Given the description of an element on the screen output the (x, y) to click on. 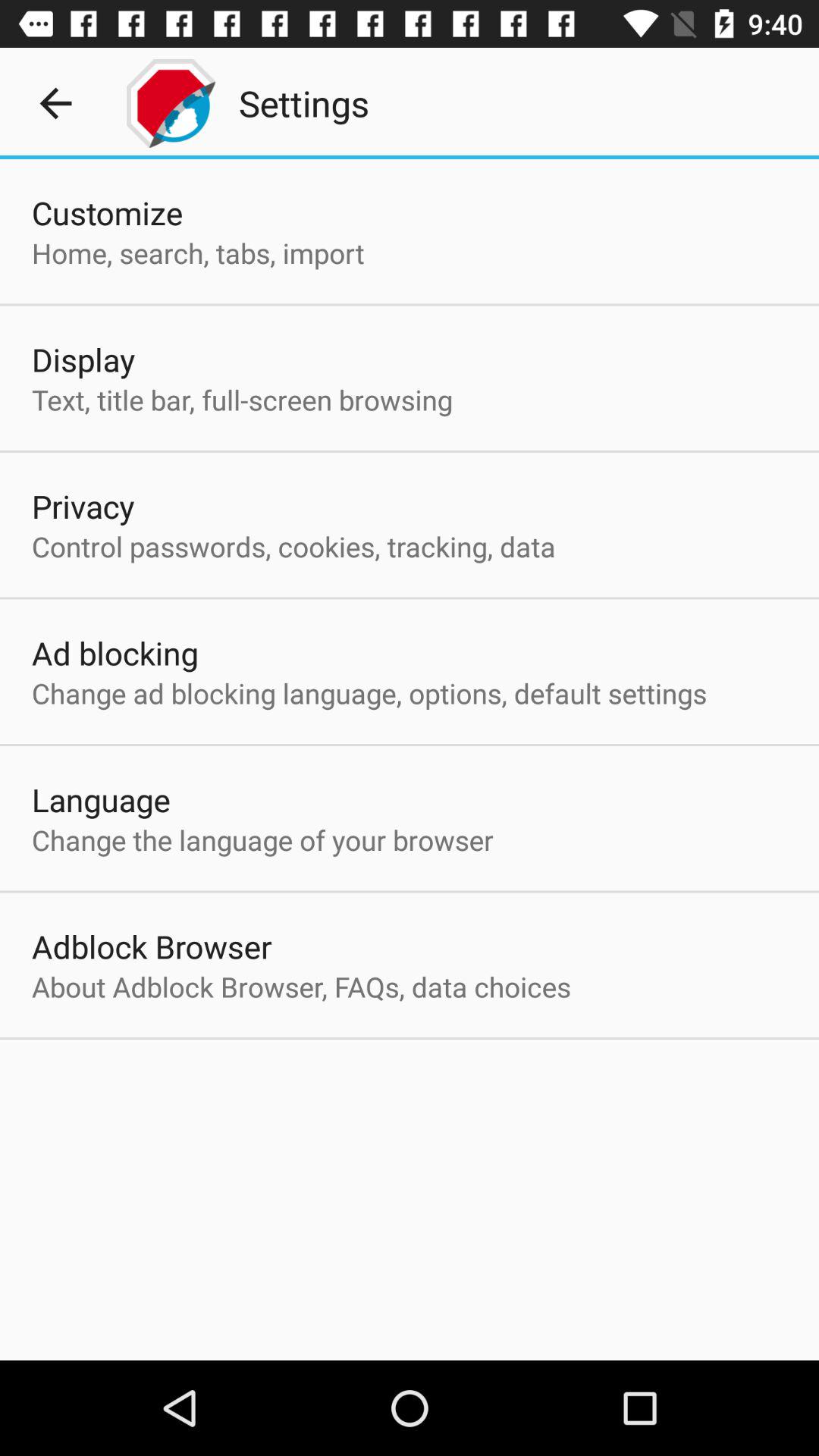
flip until privacy icon (82, 505)
